Given the description of an element on the screen output the (x, y) to click on. 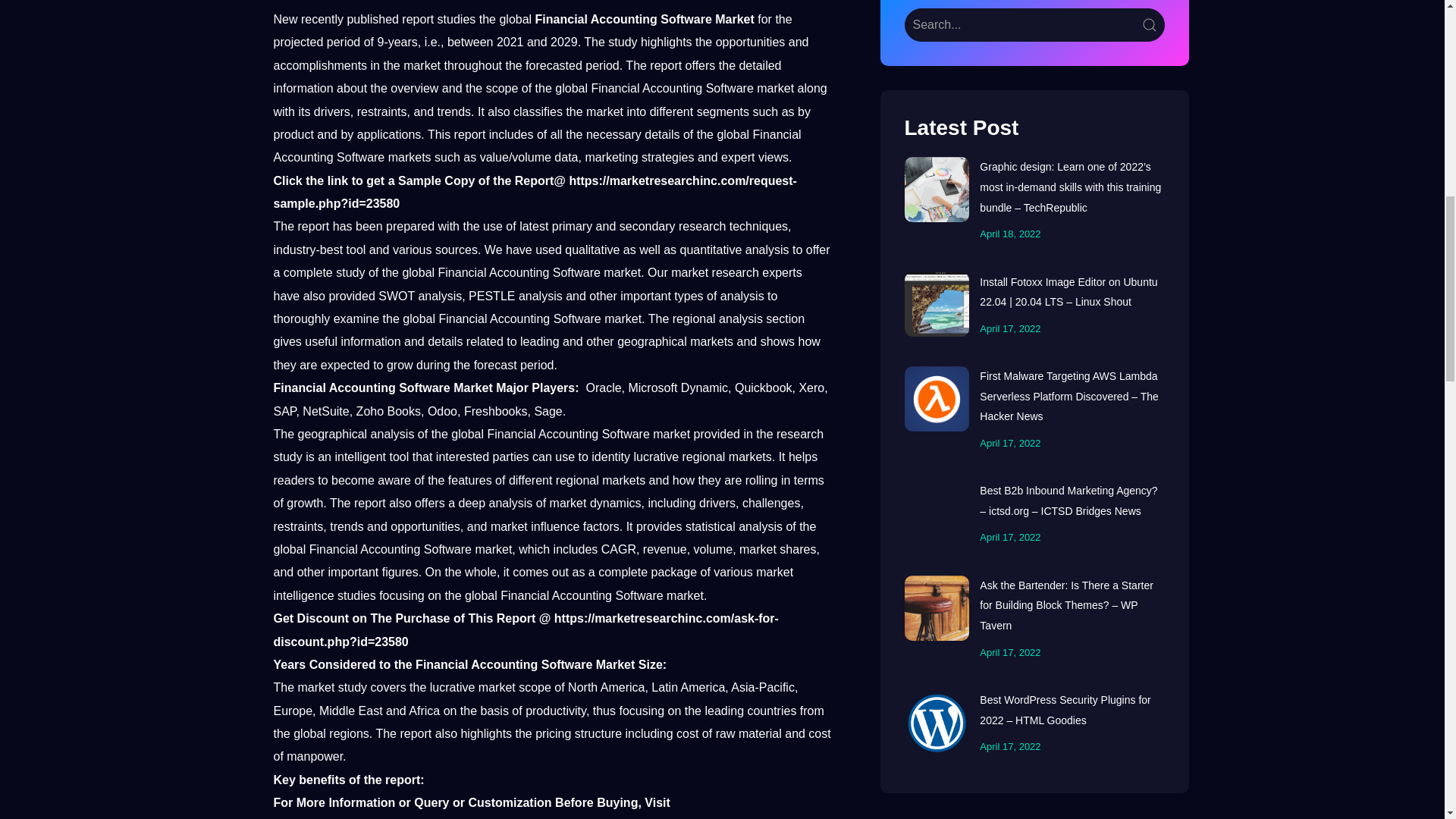
Search (1033, 24)
